Given the description of an element on the screen output the (x, y) to click on. 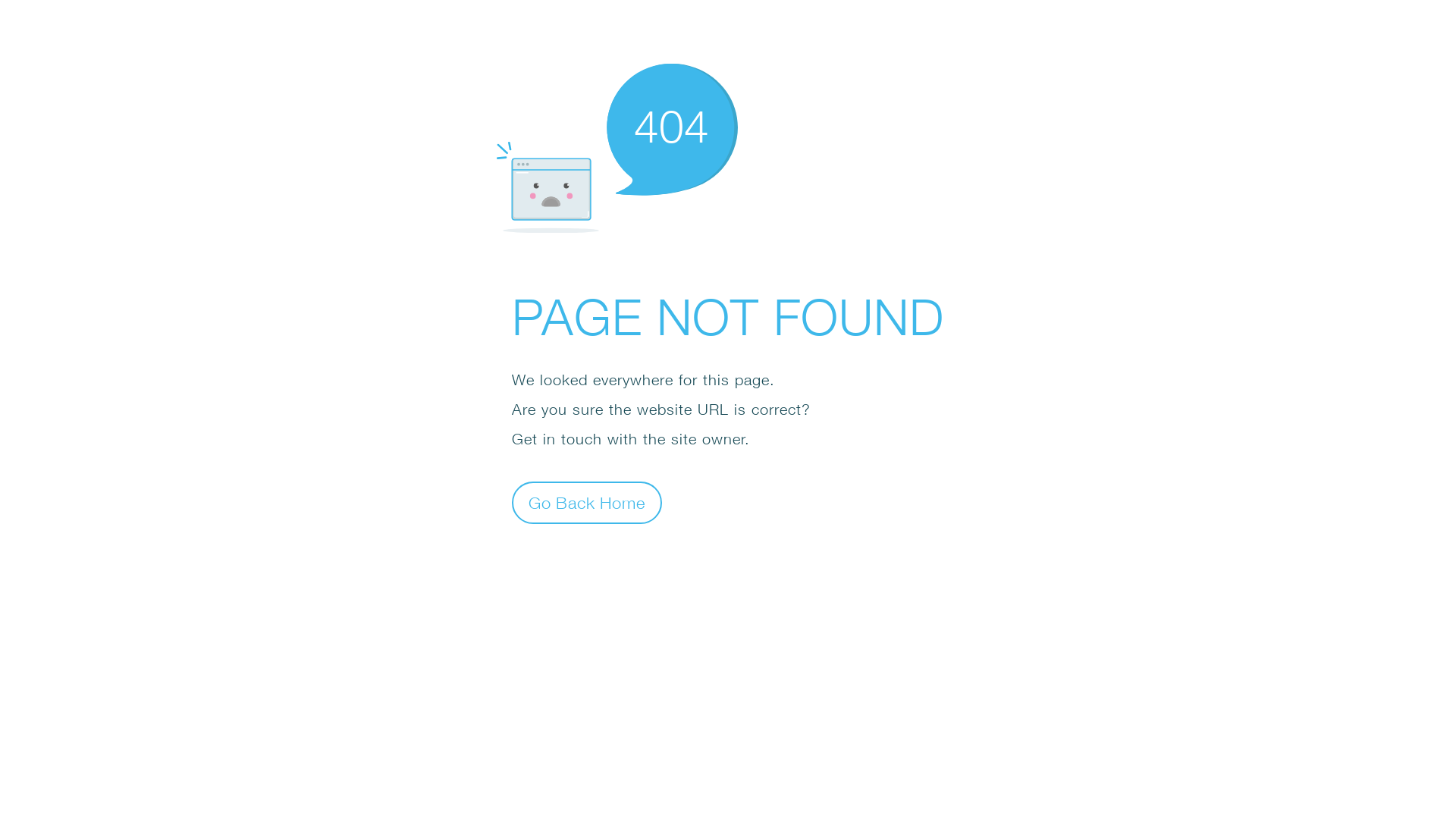
Go Back Home Element type: text (586, 502)
